Given the description of an element on the screen output the (x, y) to click on. 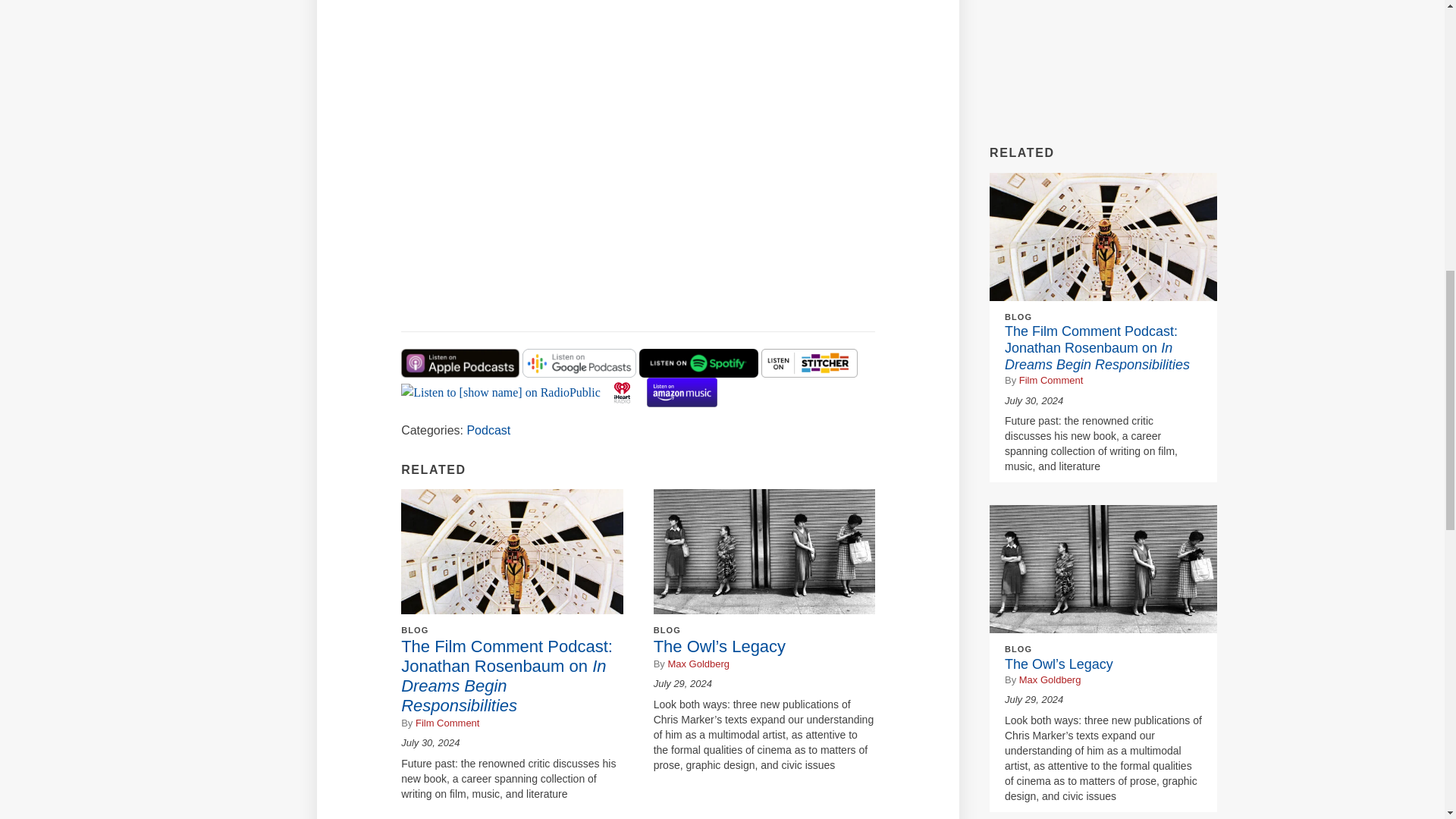
In Conversation with Viola Davis by Film Comment (590, 157)
3rd party ad content (1103, 61)
